Given the description of an element on the screen output the (x, y) to click on. 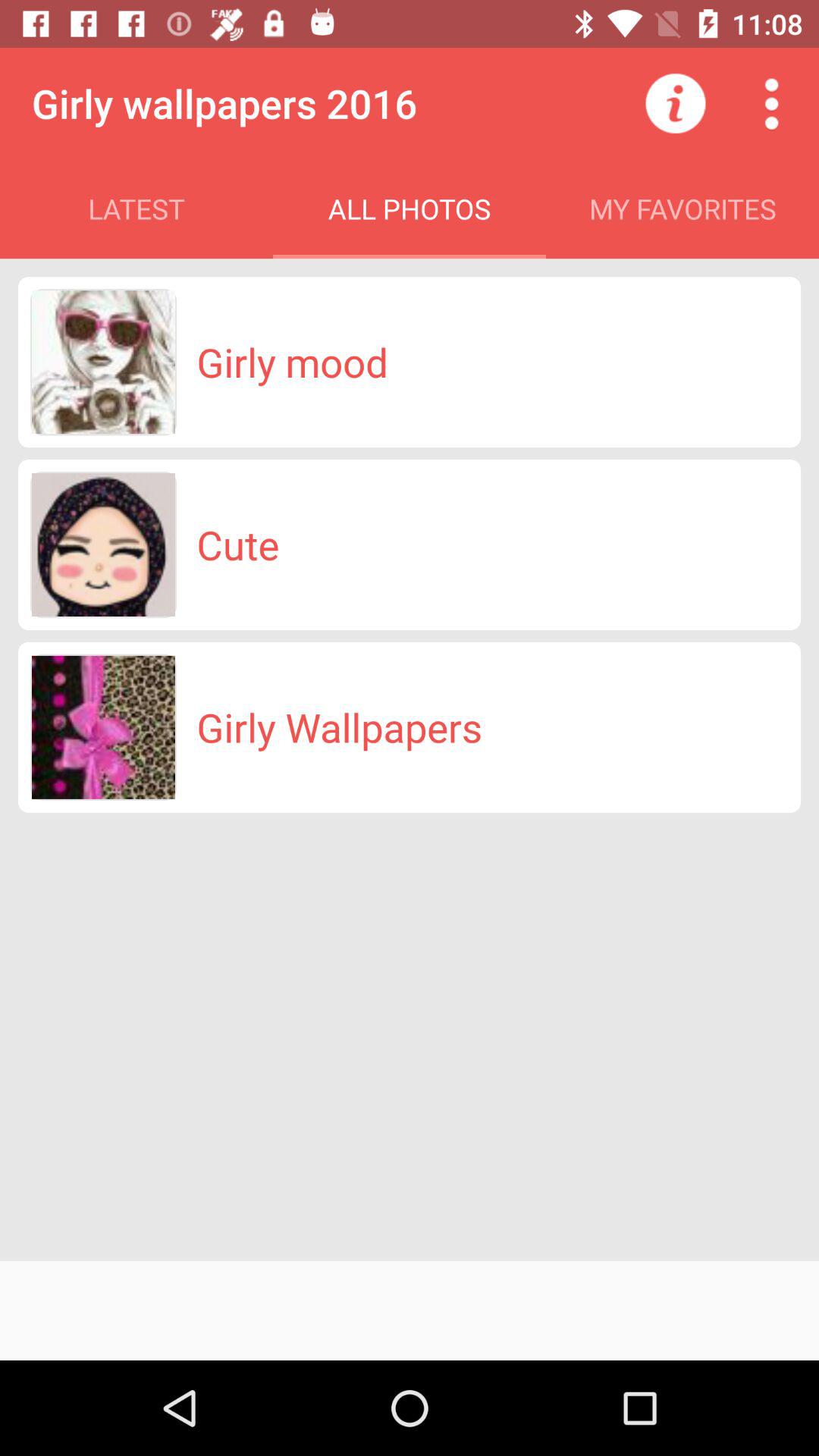
option (771, 103)
